Given the description of an element on the screen output the (x, y) to click on. 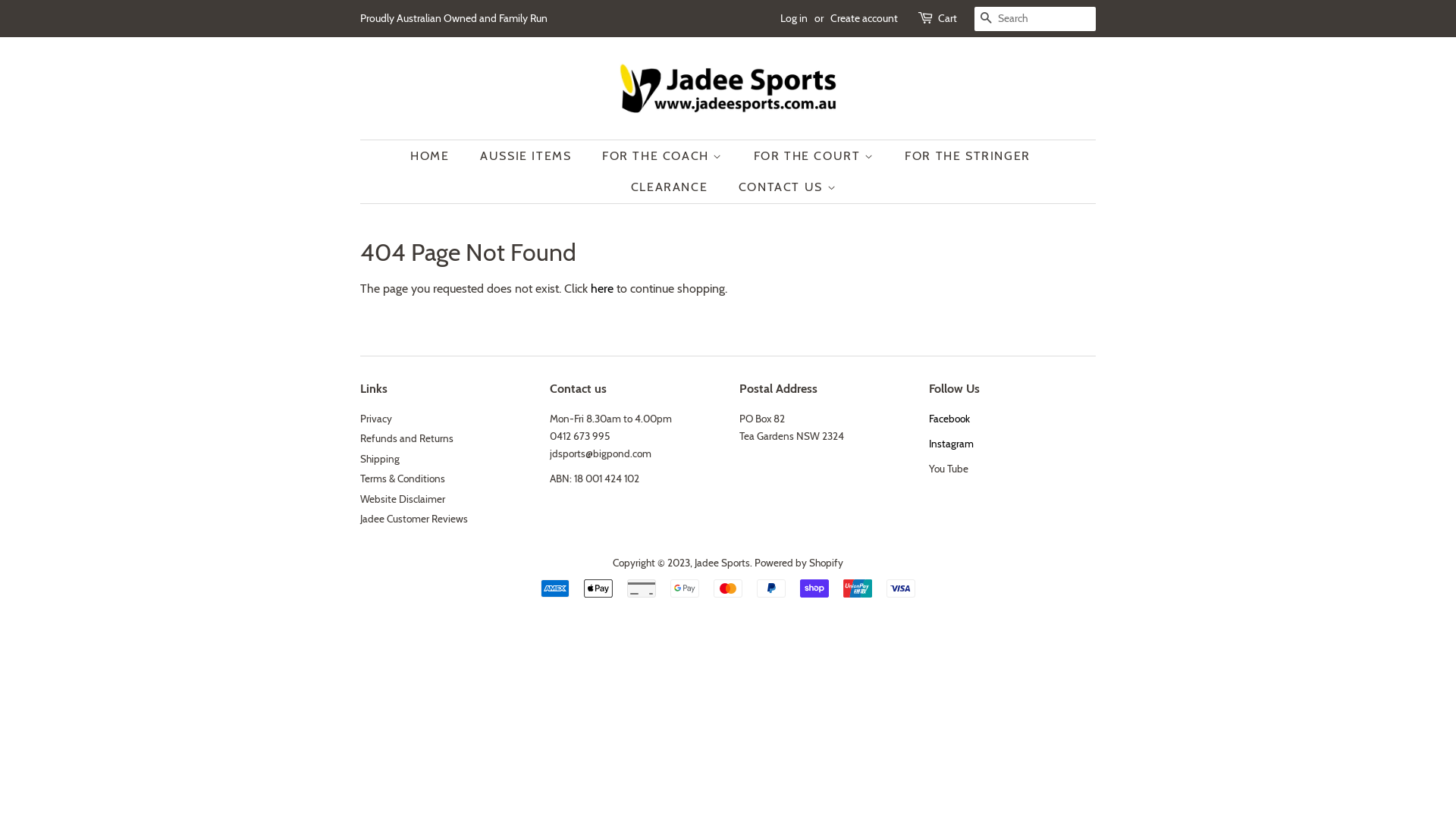
Refunds and Returns Element type: text (406, 438)
Instagram Element type: text (950, 443)
CLEARANCE Element type: text (670, 186)
Website Disclaimer Element type: text (402, 498)
here Element type: text (601, 288)
FOR THE STRINGER Element type: text (969, 155)
Powered by Shopify Element type: text (798, 562)
Shipping Element type: text (379, 458)
Terms & Conditions Element type: text (402, 478)
Cart Element type: text (947, 18)
AUSSIE ITEMS Element type: text (527, 155)
HOME Element type: text (437, 155)
CONTACT US Element type: text (781, 186)
Facebook Element type: text (948, 418)
Privacy Element type: text (376, 418)
Log in Element type: text (793, 18)
SEARCH Element type: text (986, 18)
Create account Element type: text (863, 18)
Jadee Sports Element type: text (721, 562)
FOR THE COACH Element type: text (663, 155)
Jadee Customer Reviews Element type: text (413, 518)
FOR THE COURT Element type: text (815, 155)
